Given the description of an element on the screen output the (x, y) to click on. 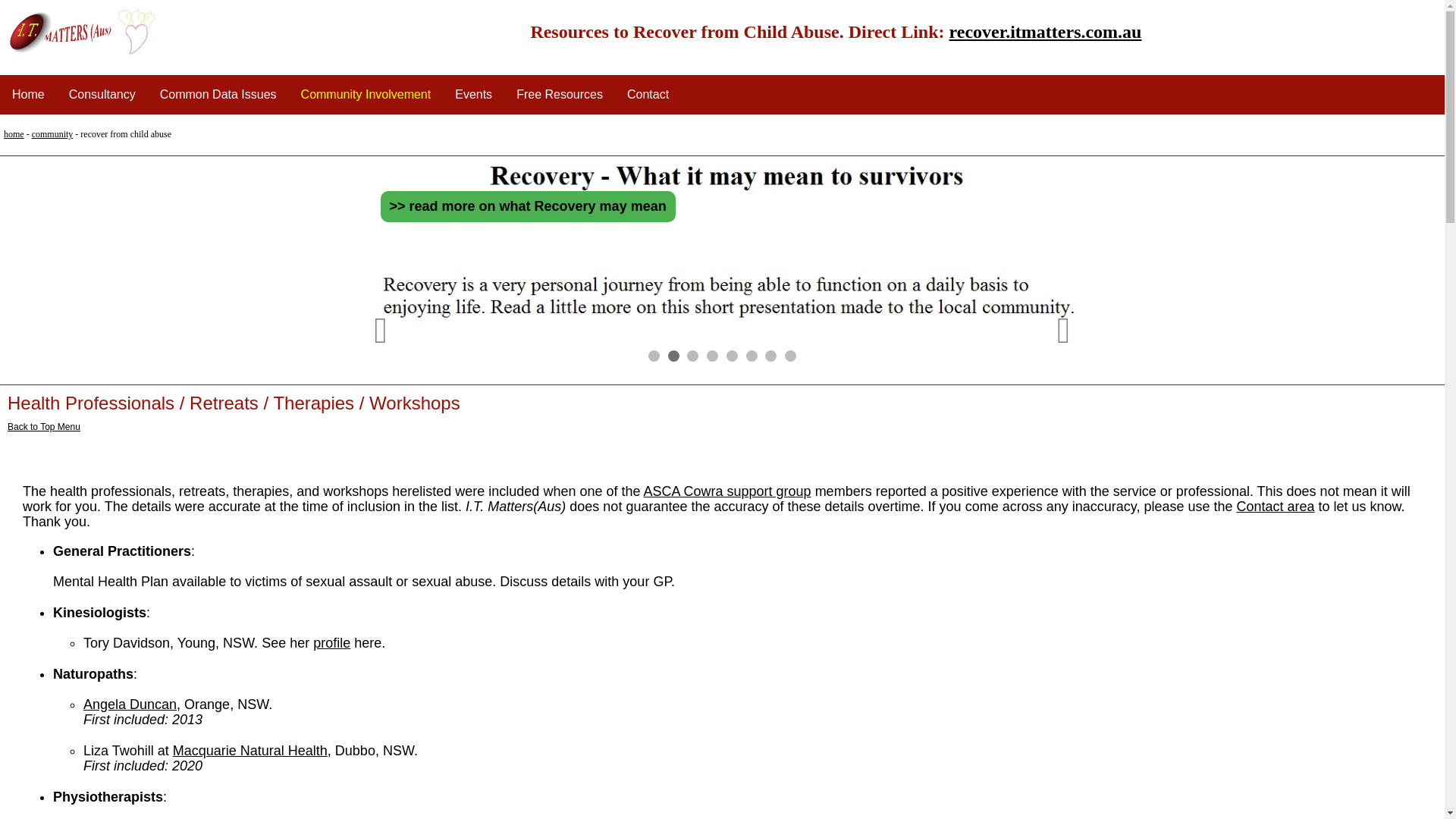
ASCA Cowra support group Element type: text (726, 490)
Angela Duncan Element type: text (129, 704)
profile Element type: text (331, 642)
Home Element type: text (28, 94)
Health Professionals / Retreats / Therapies / Workshops Element type: text (233, 402)
Contact area Element type: text (1275, 506)
recover.itmatters.com.au Element type: text (1045, 31)
Macquarie Natural Health Element type: text (249, 750)
Consultancy Element type: text (101, 94)
Contact Element type: text (647, 94)
Community Involvement Element type: text (365, 94)
Free Resources Element type: text (559, 94)
Common Data Issues Element type: text (217, 94)
Back to Top Menu Element type: text (43, 426)
Events Element type: text (473, 94)
>> read more on what Recovery may mean Element type: text (527, 206)
community Element type: text (52, 133)
home Element type: text (13, 133)
